Given the description of an element on the screen output the (x, y) to click on. 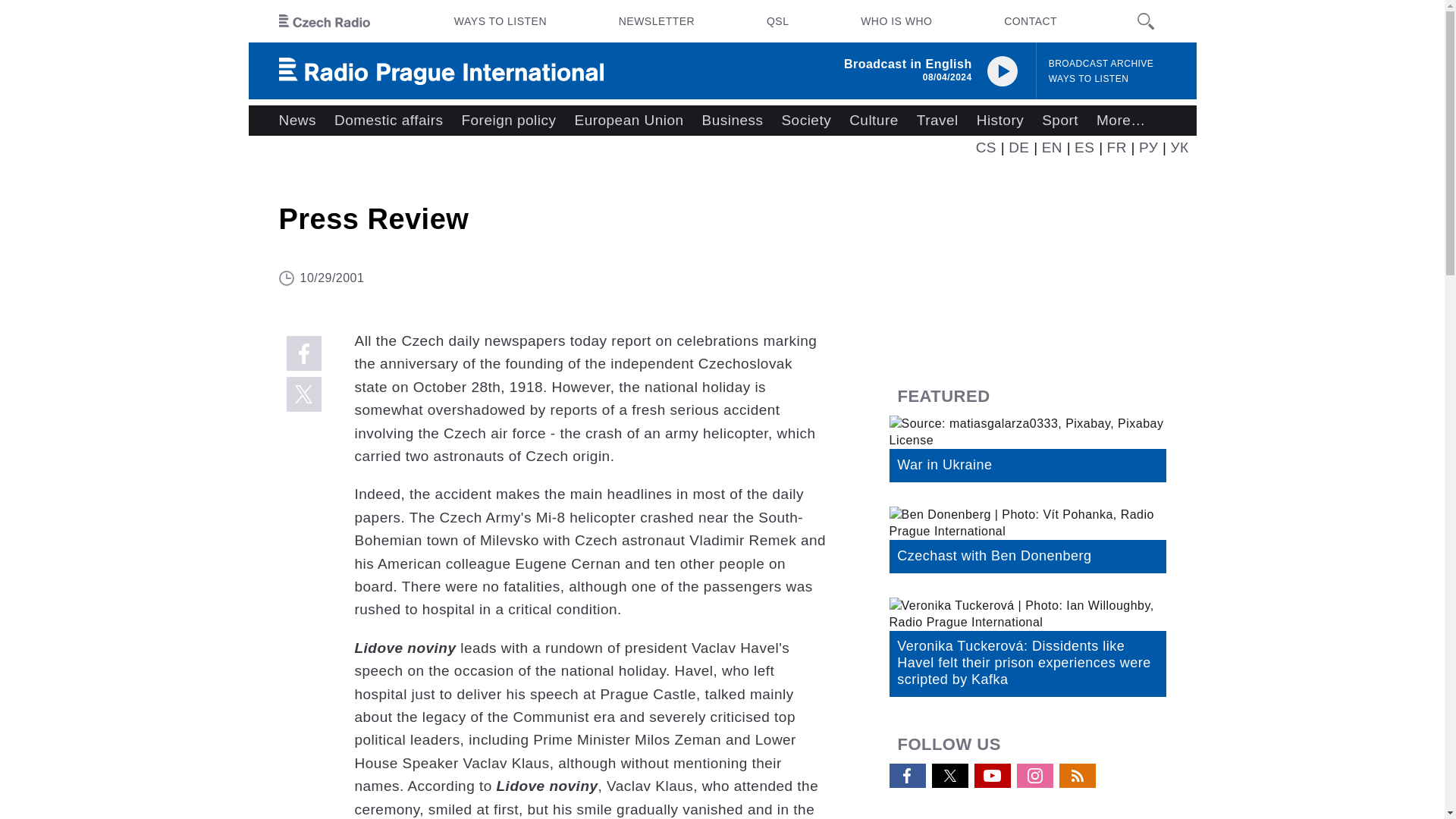
NEWSLETTER (656, 21)
QSL (777, 21)
CS (985, 147)
European Union (628, 120)
News (296, 120)
DE (1019, 147)
EN (1052, 147)
Business (733, 120)
Domestic affairs (388, 120)
History (1000, 120)
Broadcast in English  (908, 63)
ES (1084, 147)
CONTACT (1029, 21)
FR (1116, 147)
